Given the description of an element on the screen output the (x, y) to click on. 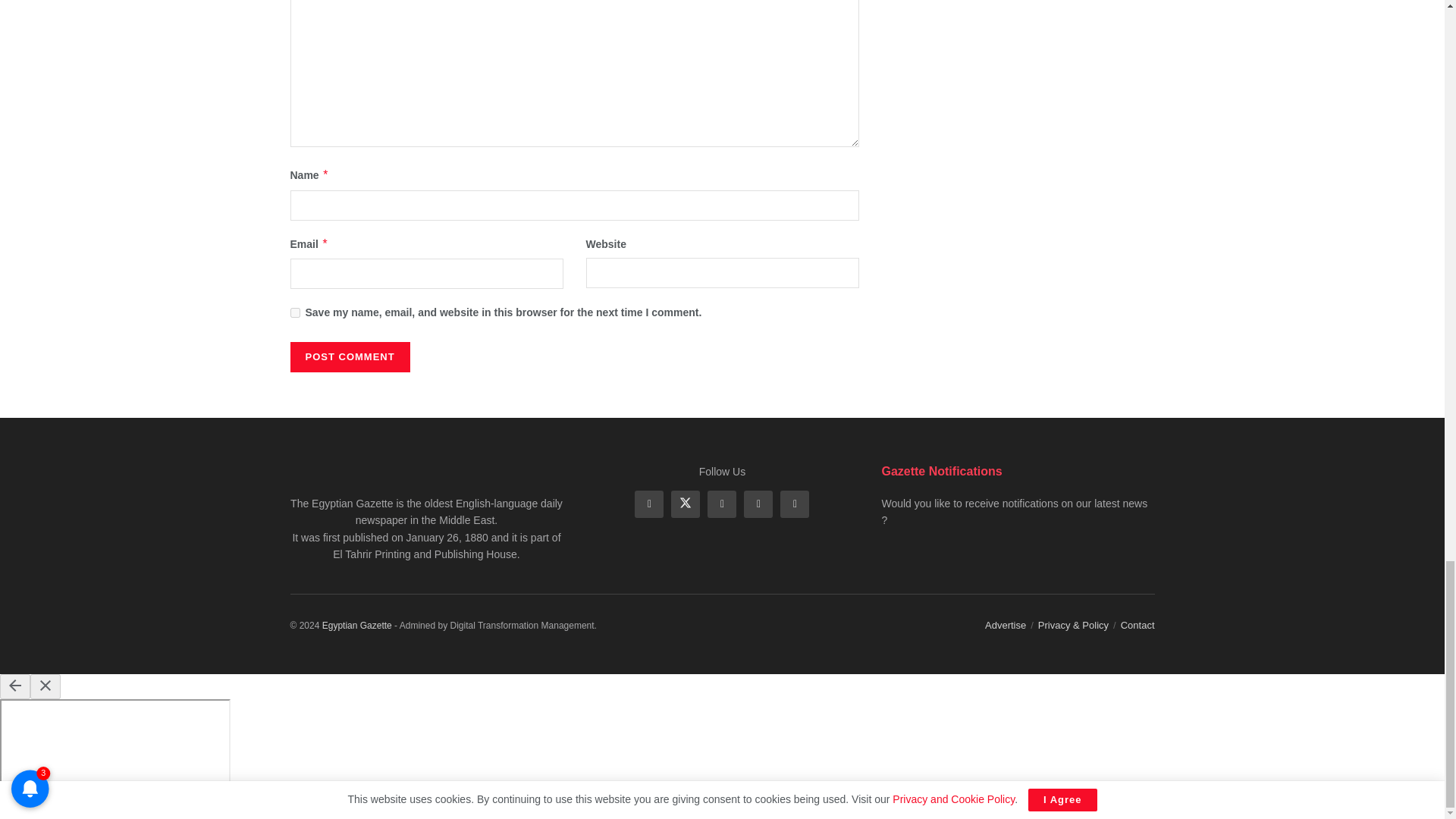
Post Comment (349, 357)
yes (294, 312)
